Given the description of an element on the screen output the (x, y) to click on. 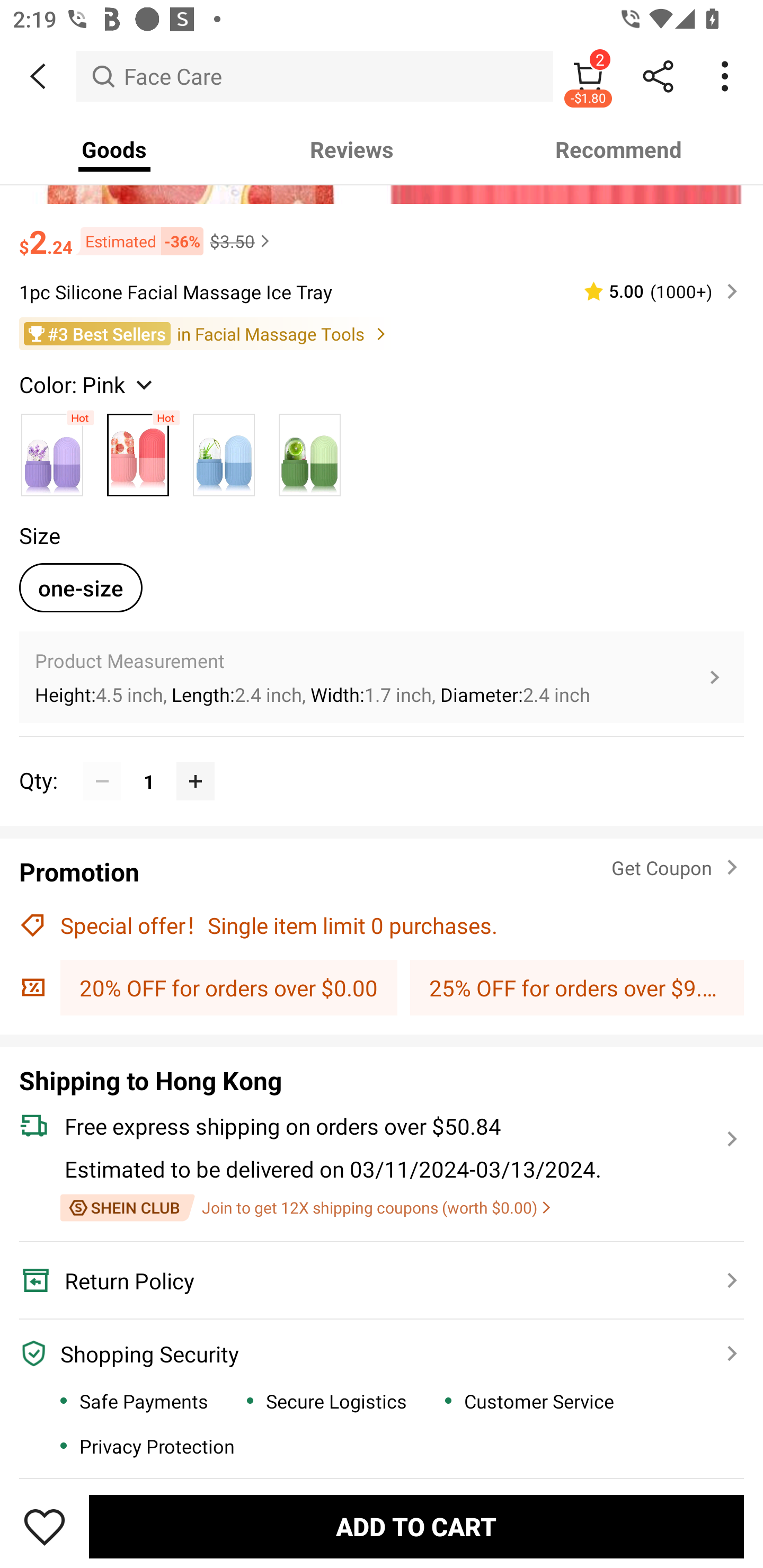
BACK (38, 75)
2 -$1.80 (588, 75)
Face Care (314, 75)
Goods (114, 149)
Reviews (351, 149)
Recommend (618, 149)
$2.24 Estimated -36% $3.50 (381, 233)
Estimated -36% (137, 241)
$3.50 (241, 240)
5.00 (1000‎+) (653, 291)
#3 Best Sellers in Facial Massage Tools (381, 332)
Color: Pink (88, 383)
Multicolor (52, 450)
Pink (138, 450)
Baby Blue (224, 450)
Green (309, 450)
Size (39, 535)
one-size one-sizeselected option (80, 587)
Qty: 1 (381, 760)
Join to get 12X shipping coupons (worth $0.00) (305, 1207)
Return Policy (370, 1280)
ADD TO CART (416, 1526)
Save (44, 1526)
